Given the description of an element on the screen output the (x, y) to click on. 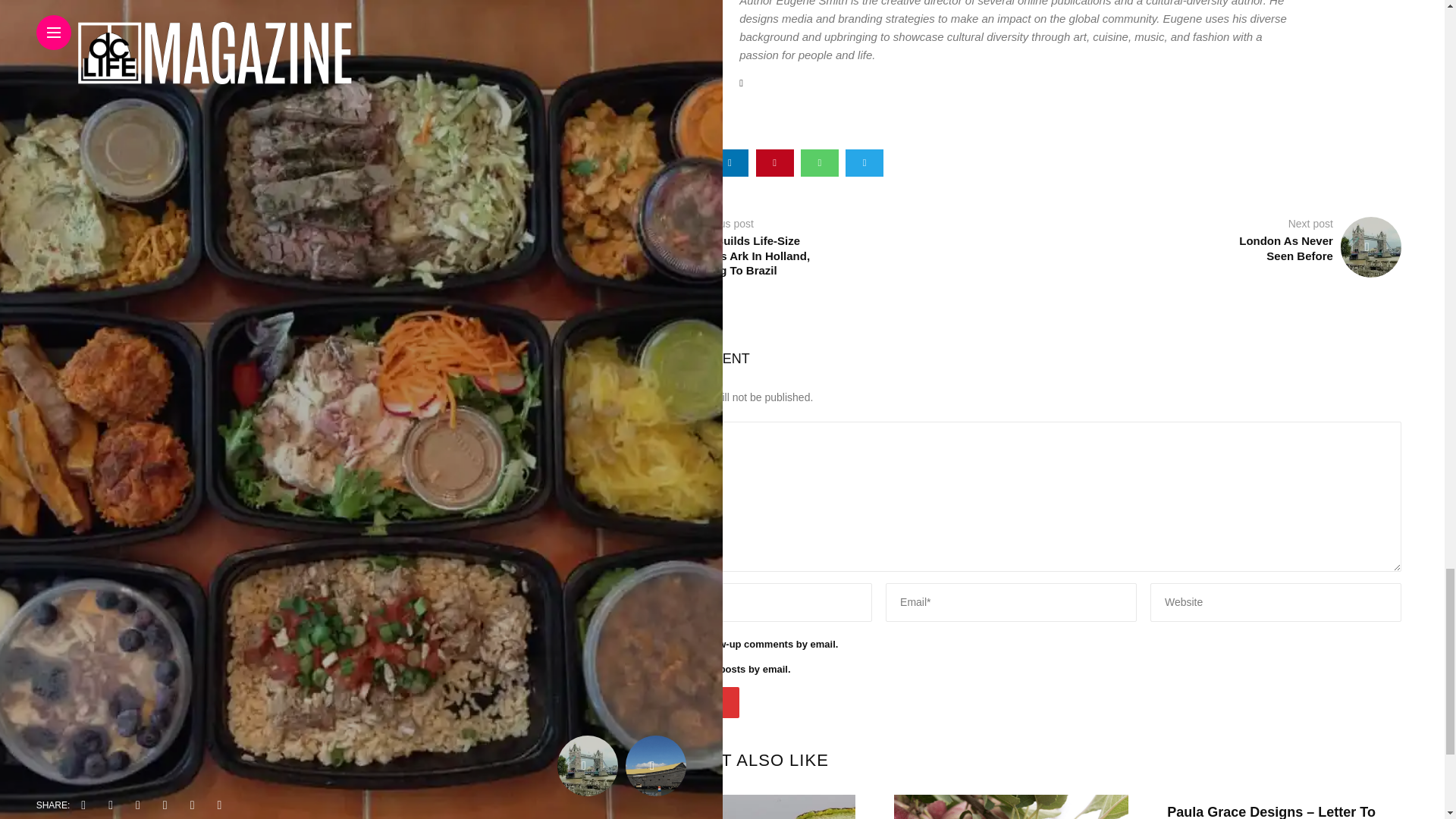
subscribe (625, 643)
Post Comment (680, 702)
subscribe (625, 668)
